Given the description of an element on the screen output the (x, y) to click on. 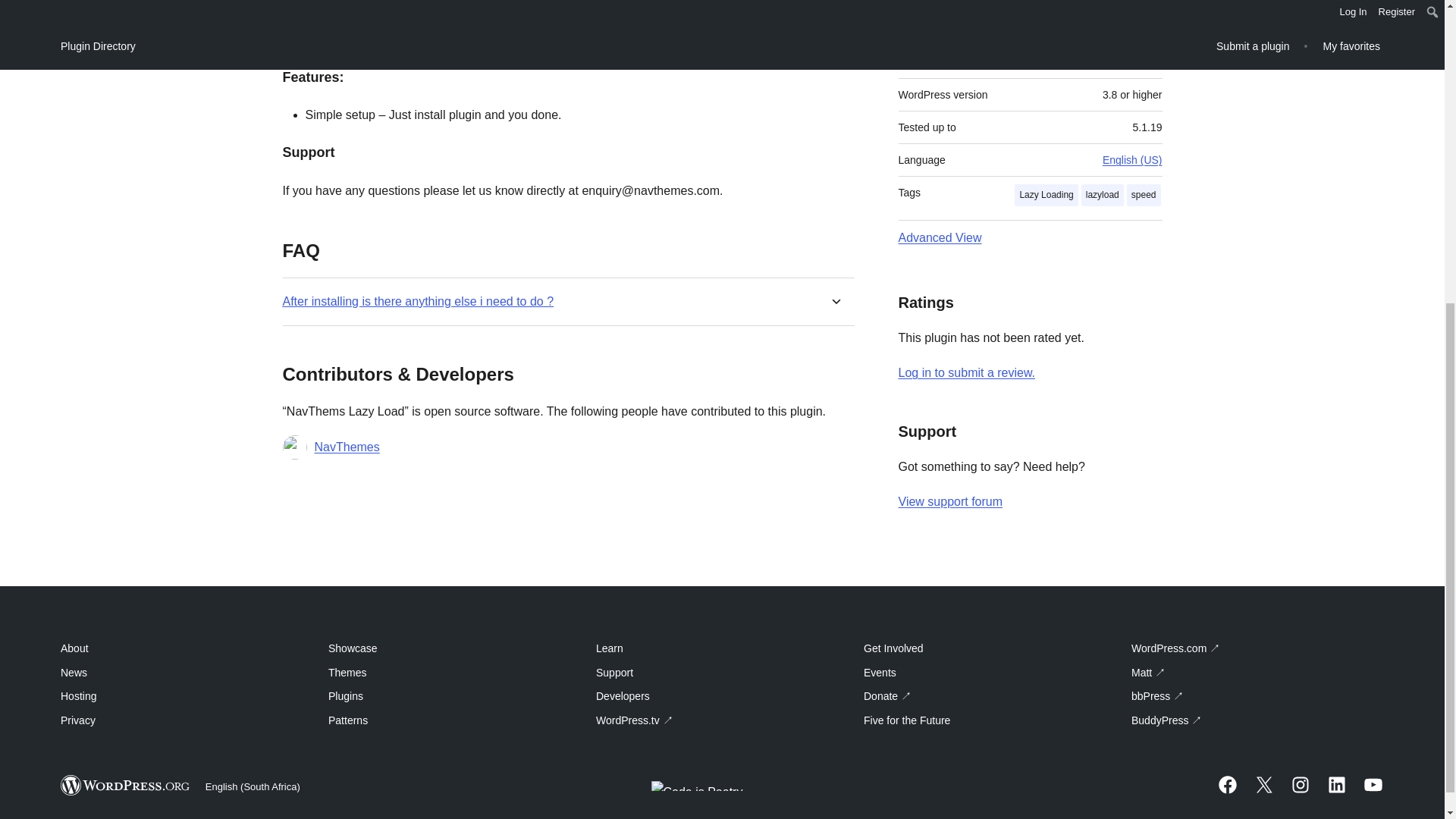
Log in to WordPress.org (966, 372)
WordPress.org (125, 784)
NavThemes (346, 446)
Lazy Loading (1045, 195)
After installing is there anything else i need to do ? (417, 300)
